Given the description of an element on the screen output the (x, y) to click on. 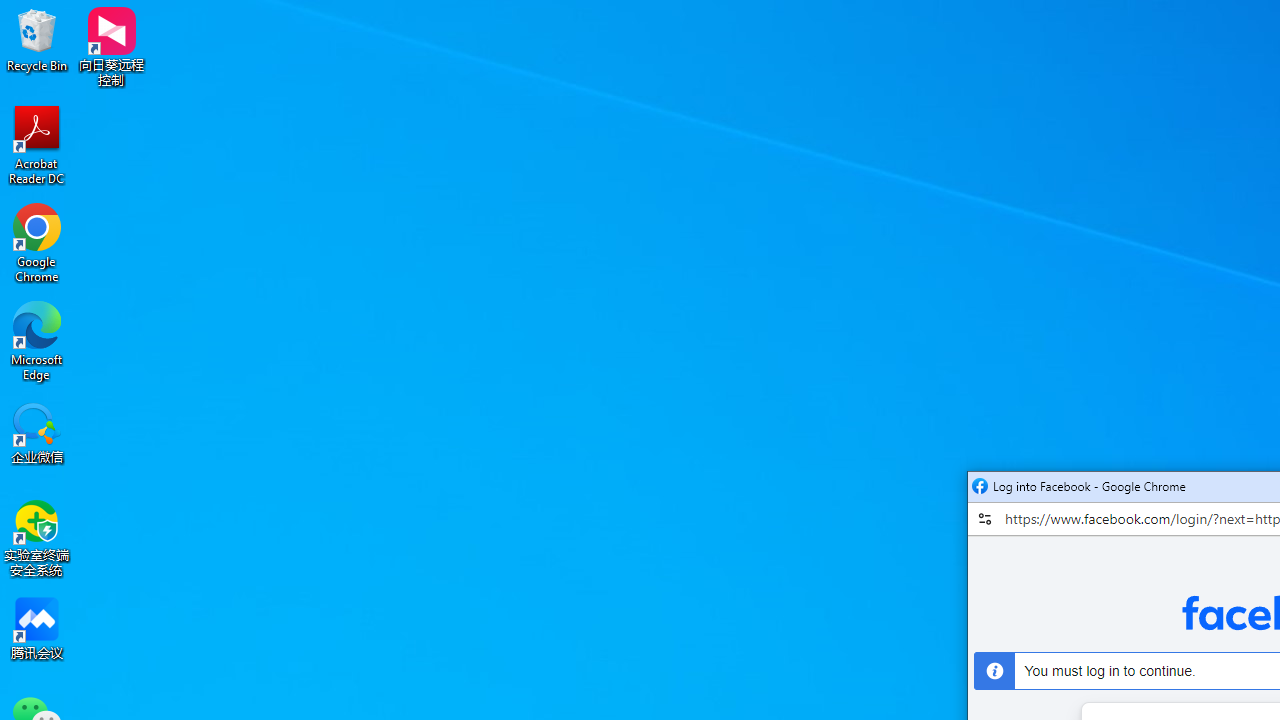
Google Chrome (37, 242)
Acrobat Reader DC (37, 144)
Recycle Bin (37, 39)
Microsoft Edge (37, 340)
